Given the description of an element on the screen output the (x, y) to click on. 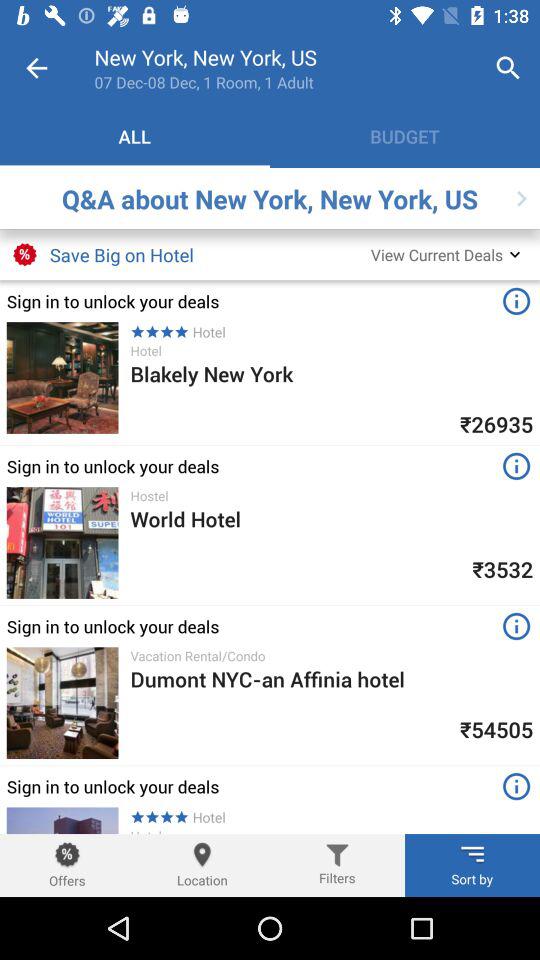
select the sort by icon (472, 854)
